Given the description of an element on the screen output the (x, y) to click on. 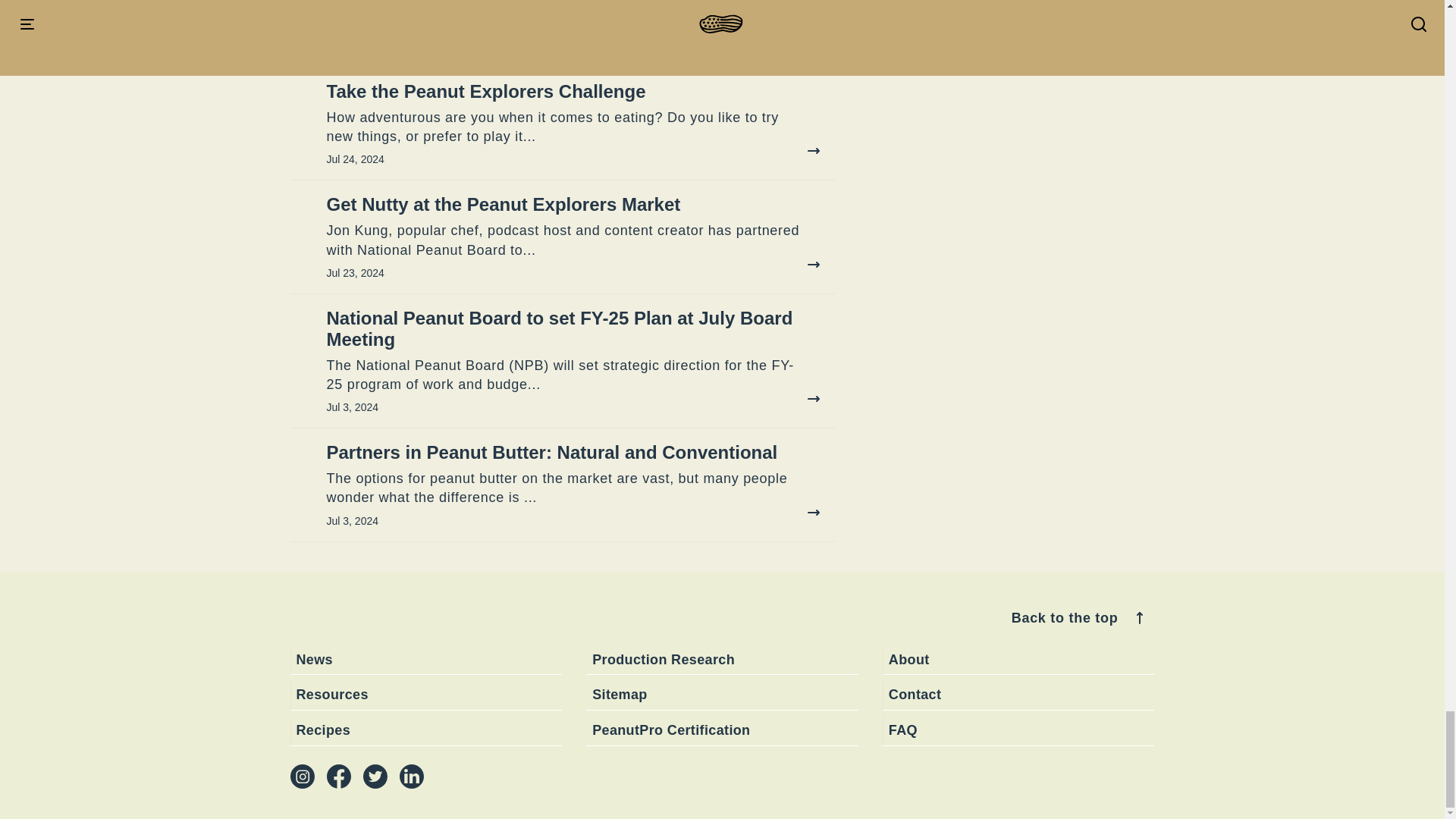
Recipes (425, 731)
About (1018, 660)
Discover more news (755, 30)
Resources (425, 695)
Sitemap (722, 695)
Back to the top (1080, 617)
Production Research (722, 660)
Contact (1018, 695)
News (425, 660)
PeanutPro Certification (722, 731)
FAQ (1018, 731)
